Given the description of an element on the screen output the (x, y) to click on. 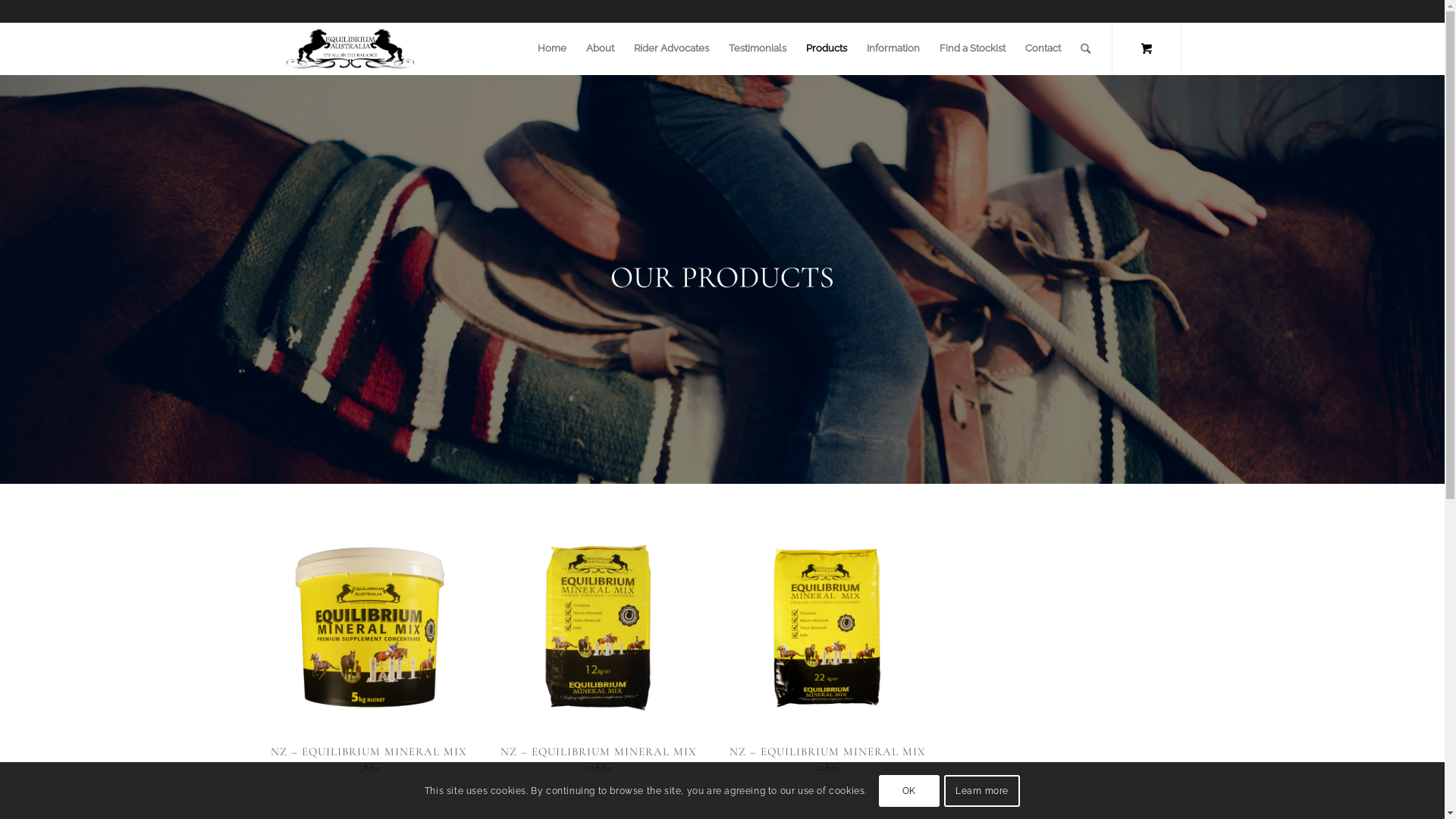
OK Element type: text (908, 790)
Find a Stockist Element type: text (972, 48)
Information Element type: text (892, 48)
Learn more Element type: text (981, 790)
About Element type: text (600, 48)
Testimonials Element type: text (757, 48)
Rider Advocates Element type: text (670, 48)
Home Element type: text (551, 48)
Products Element type: text (826, 48)
OUR PRODUCTS Element type: hover (722, 278)
Contact Element type: text (1042, 48)
